Given the description of an element on the screen output the (x, y) to click on. 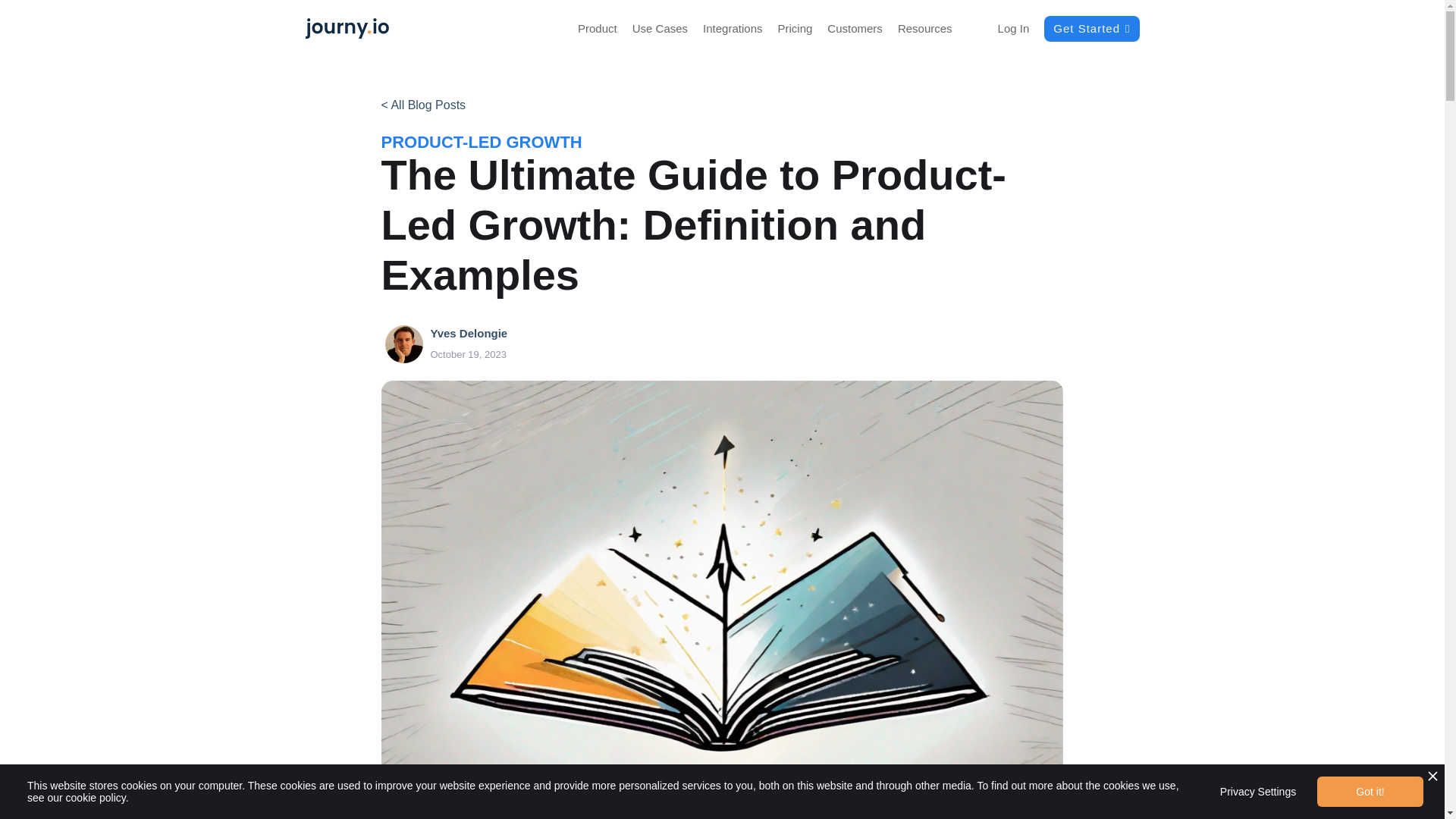
Log In (1013, 28)
Product (597, 28)
Customers (854, 28)
Use Cases (659, 28)
Integrations (732, 28)
Pricing (794, 28)
